Given the description of an element on the screen output the (x, y) to click on. 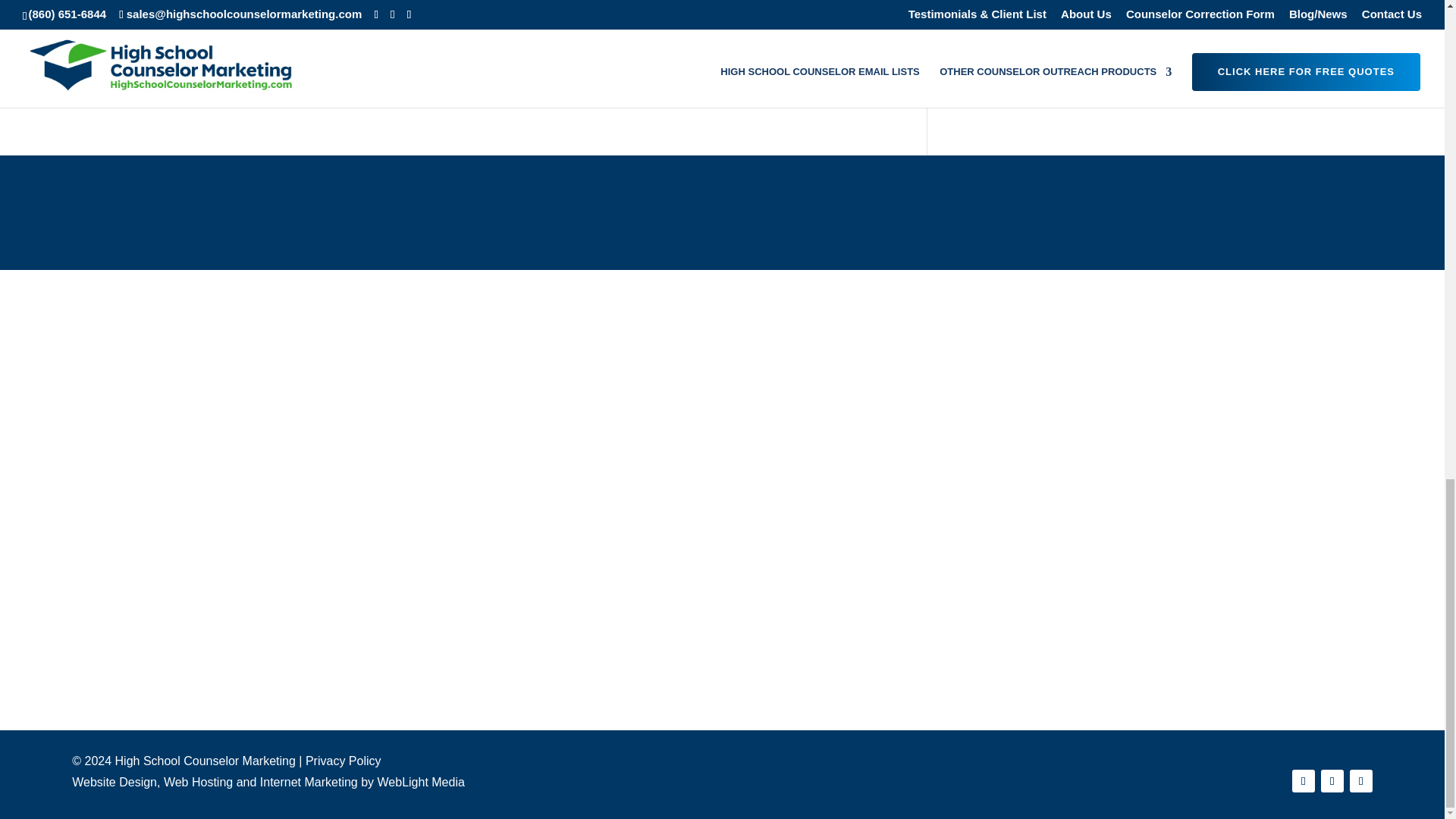
Twitter (594, 87)
Follow on Facebook (1303, 780)
Facebook (470, 87)
Follow on X (1331, 780)
Follow on LinkedIn (1361, 780)
LinkedIn (528, 87)
